Given the description of an element on the screen output the (x, y) to click on. 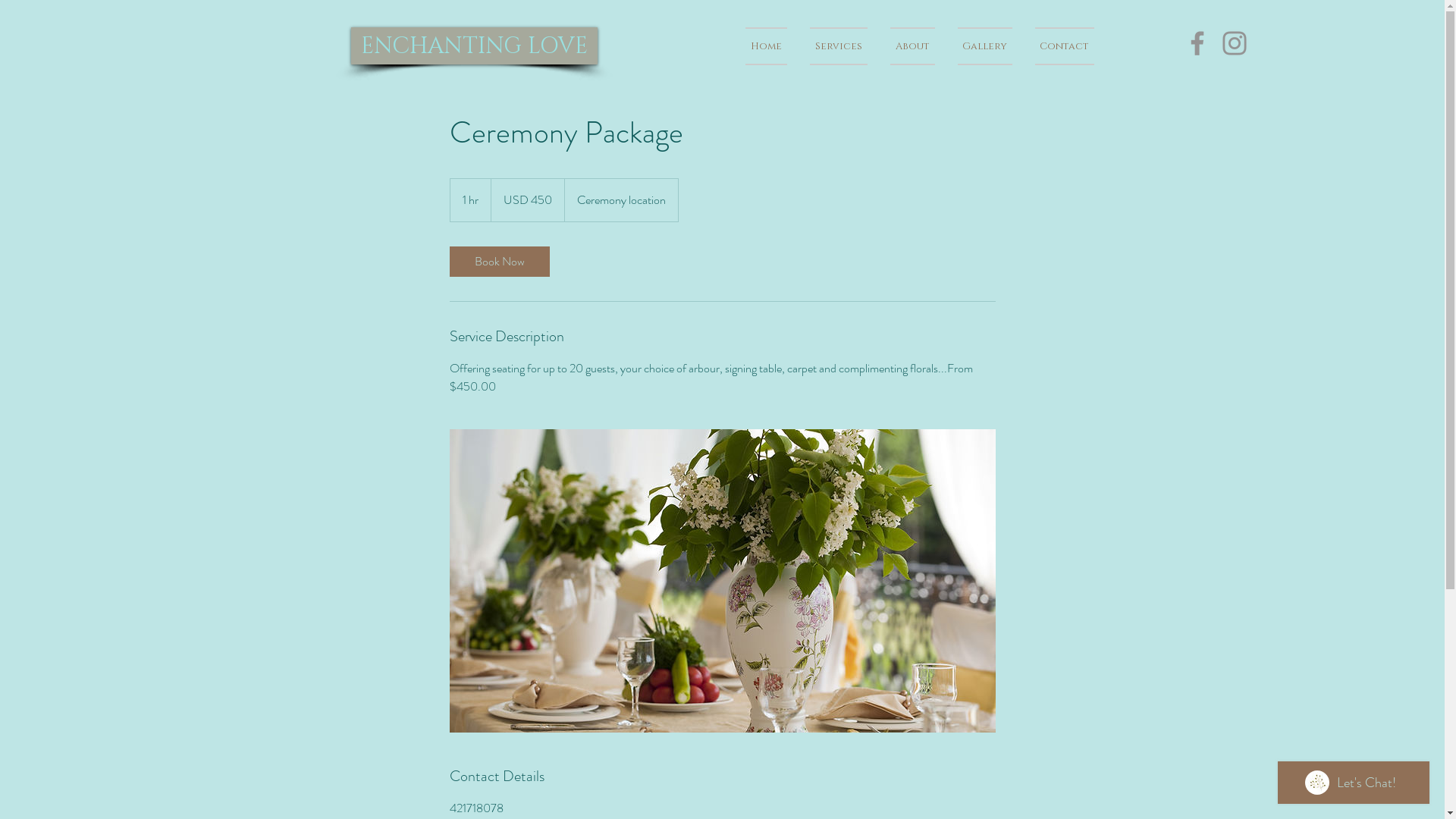
Book Now Element type: text (498, 261)
ENCHANTING LOVE Element type: text (473, 45)
About Element type: text (911, 46)
Contact Element type: text (1058, 46)
Gallery Element type: text (984, 46)
Home Element type: text (770, 46)
Services Element type: text (837, 46)
